Given the description of an element on the screen output the (x, y) to click on. 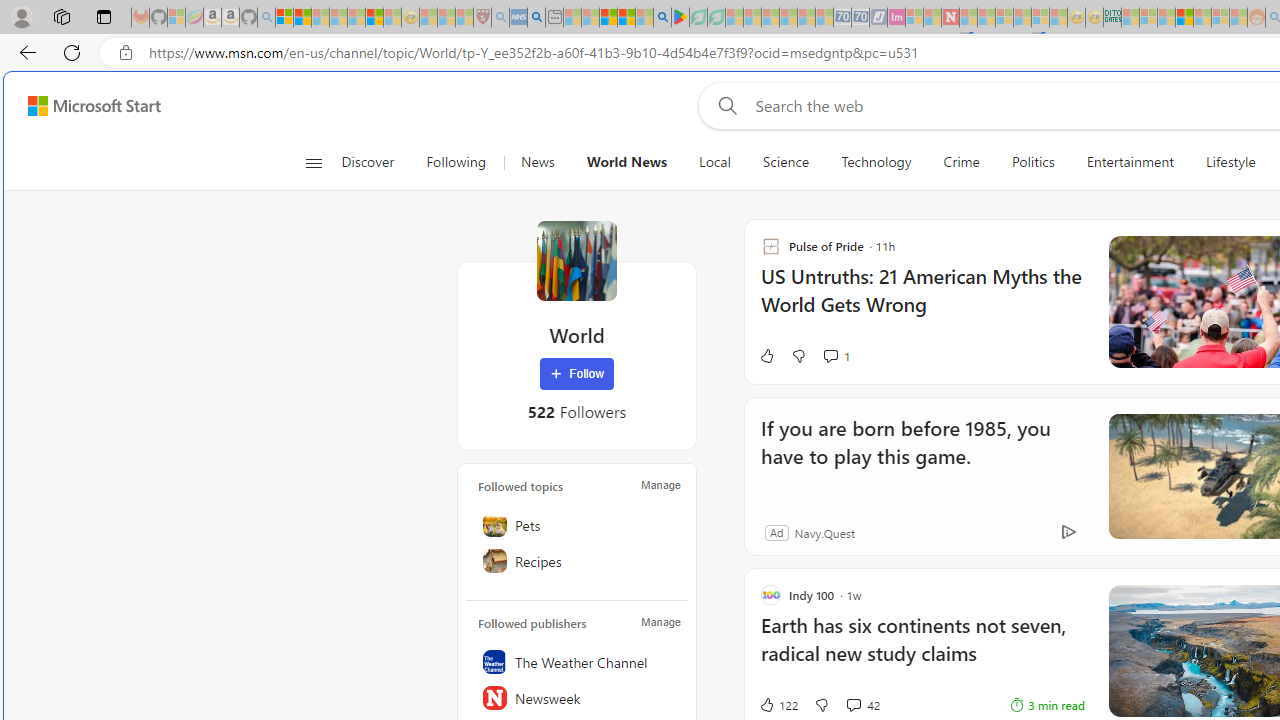
View comments 42 Comment (852, 704)
